Given the description of an element on the screen output the (x, y) to click on. 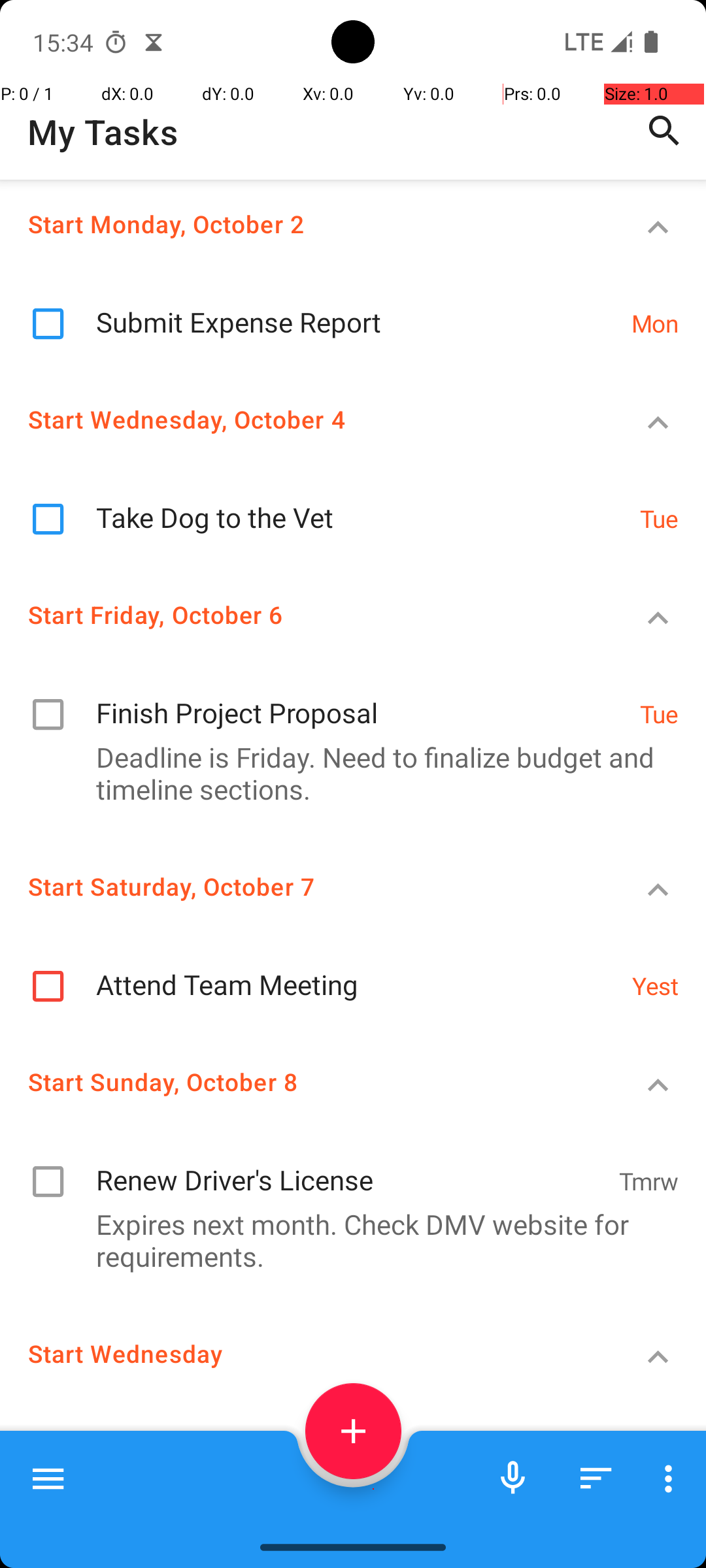
Start Monday, October 2 Element type: android.widget.TextView (304, 223)
Start Wednesday, October 4 Element type: android.widget.TextView (304, 419)
Start Friday, October 6 Element type: android.widget.TextView (304, 614)
Start Saturday, October 7 Element type: android.widget.TextView (304, 886)
Start Sunday, October 8 Element type: android.widget.TextView (304, 1081)
Start Wednesday Element type: android.widget.TextView (304, 1353)
